Given the description of an element on the screen output the (x, y) to click on. 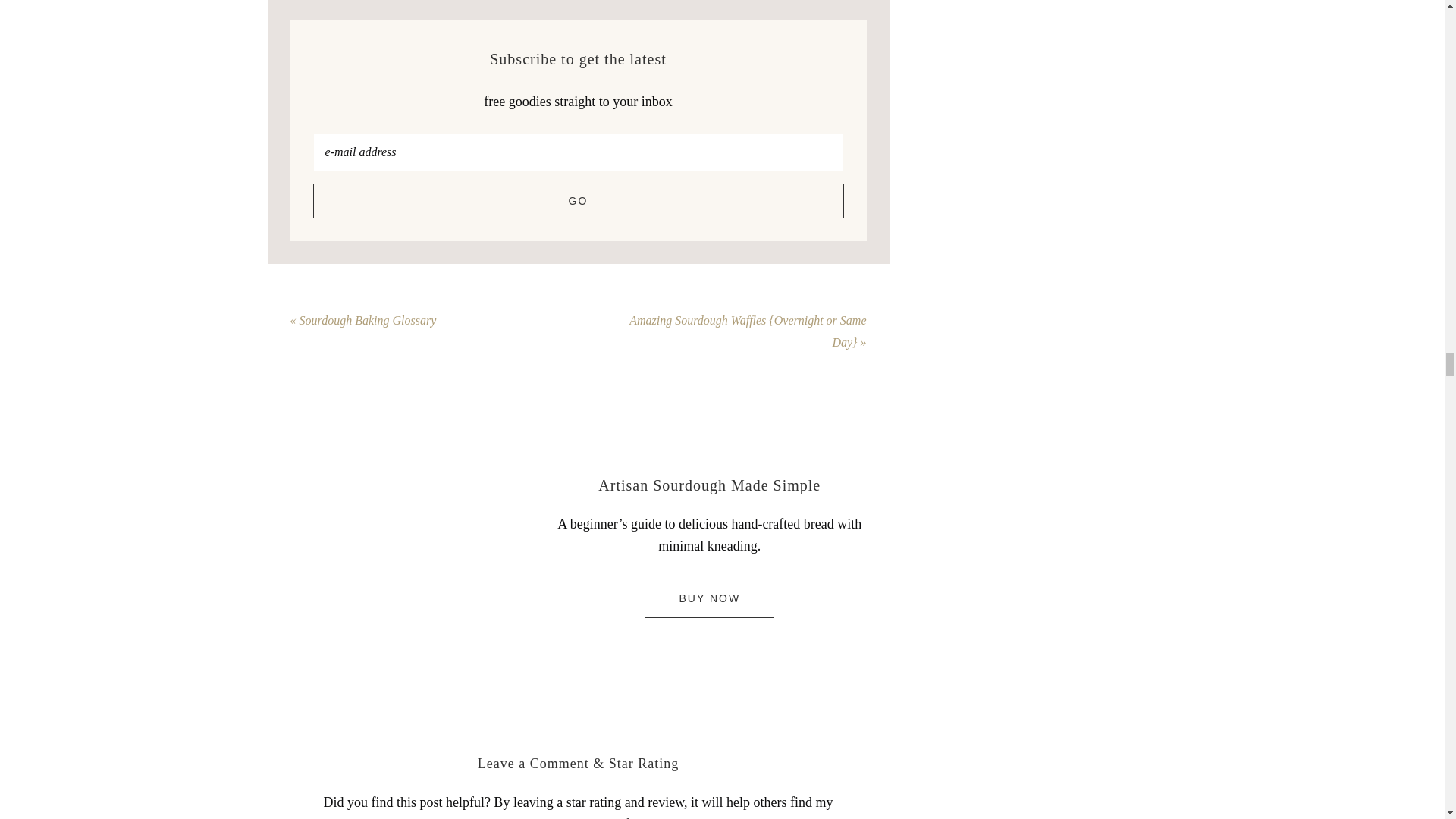
Go (578, 200)
